Given the description of an element on the screen output the (x, y) to click on. 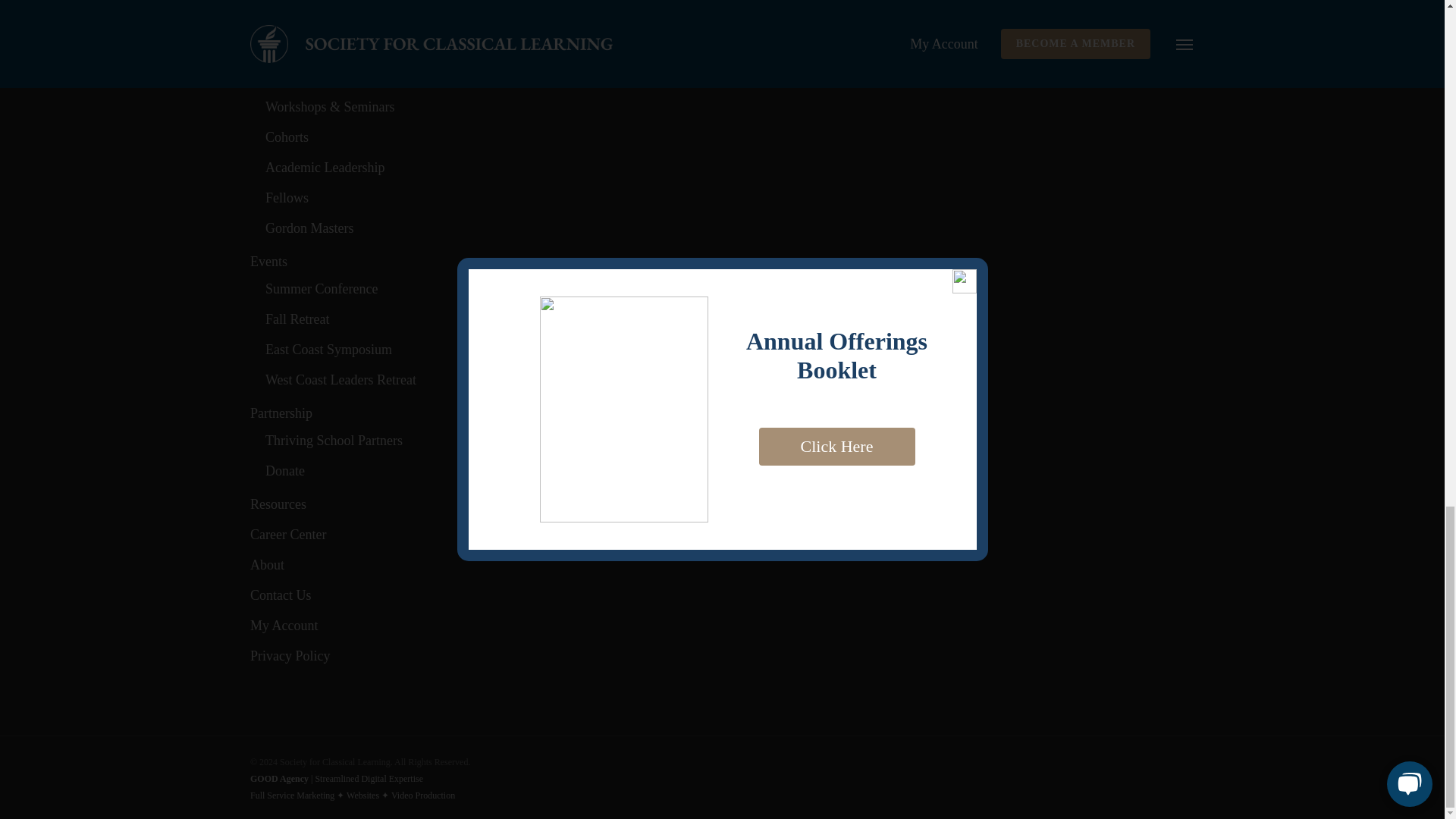
Resources (400, 504)
Gordon Masters (407, 228)
Donate (407, 470)
Leadership Training (400, 48)
Summer Conference (407, 288)
Accreditation (400, 18)
Consulting (407, 76)
Academic Leadership (407, 167)
Partnership (400, 413)
Fall Retreat (407, 319)
Events (400, 261)
Thriving School Partners (407, 440)
West Coast Leaders Retreat (407, 379)
Fellows (407, 197)
